Given the description of an element on the screen output the (x, y) to click on. 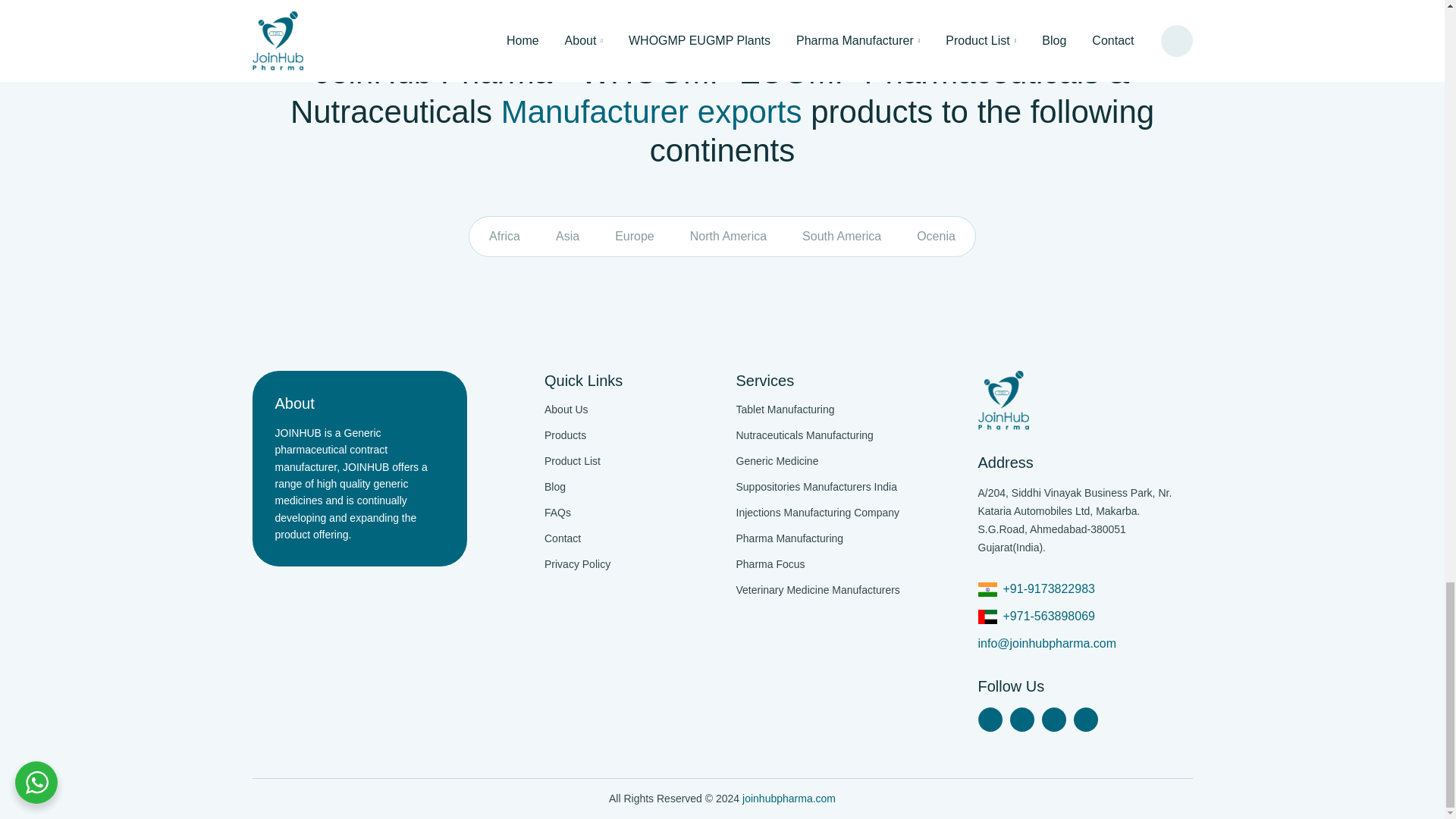
Africa (504, 236)
